Given the description of an element on the screen output the (x, y) to click on. 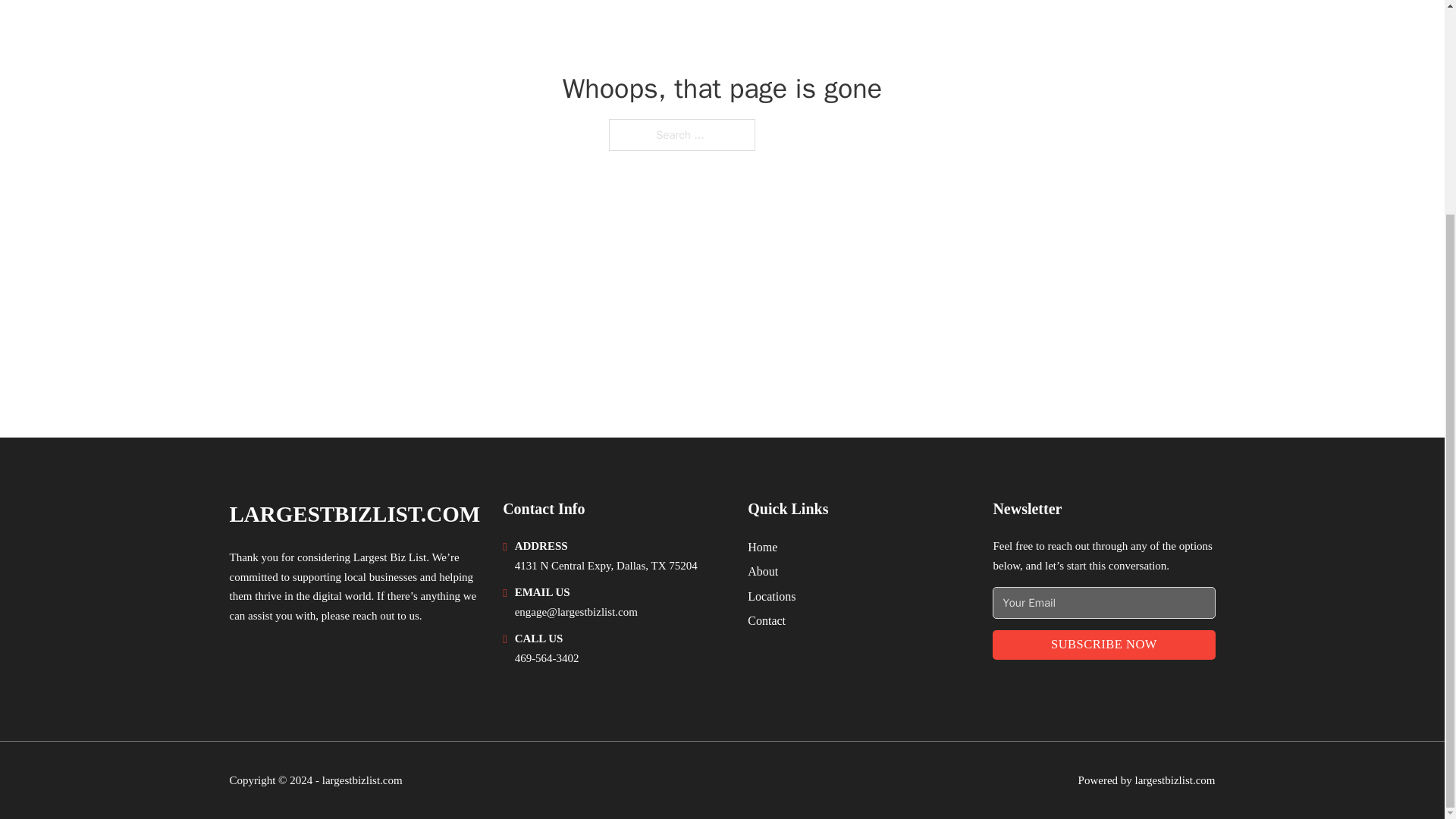
Home (762, 547)
469-564-3402 (547, 657)
Locations (771, 596)
About (762, 571)
LARGESTBIZLIST.COM (354, 514)
SUBSCRIBE NOW (1103, 644)
Contact (767, 620)
